Given the description of an element on the screen output the (x, y) to click on. 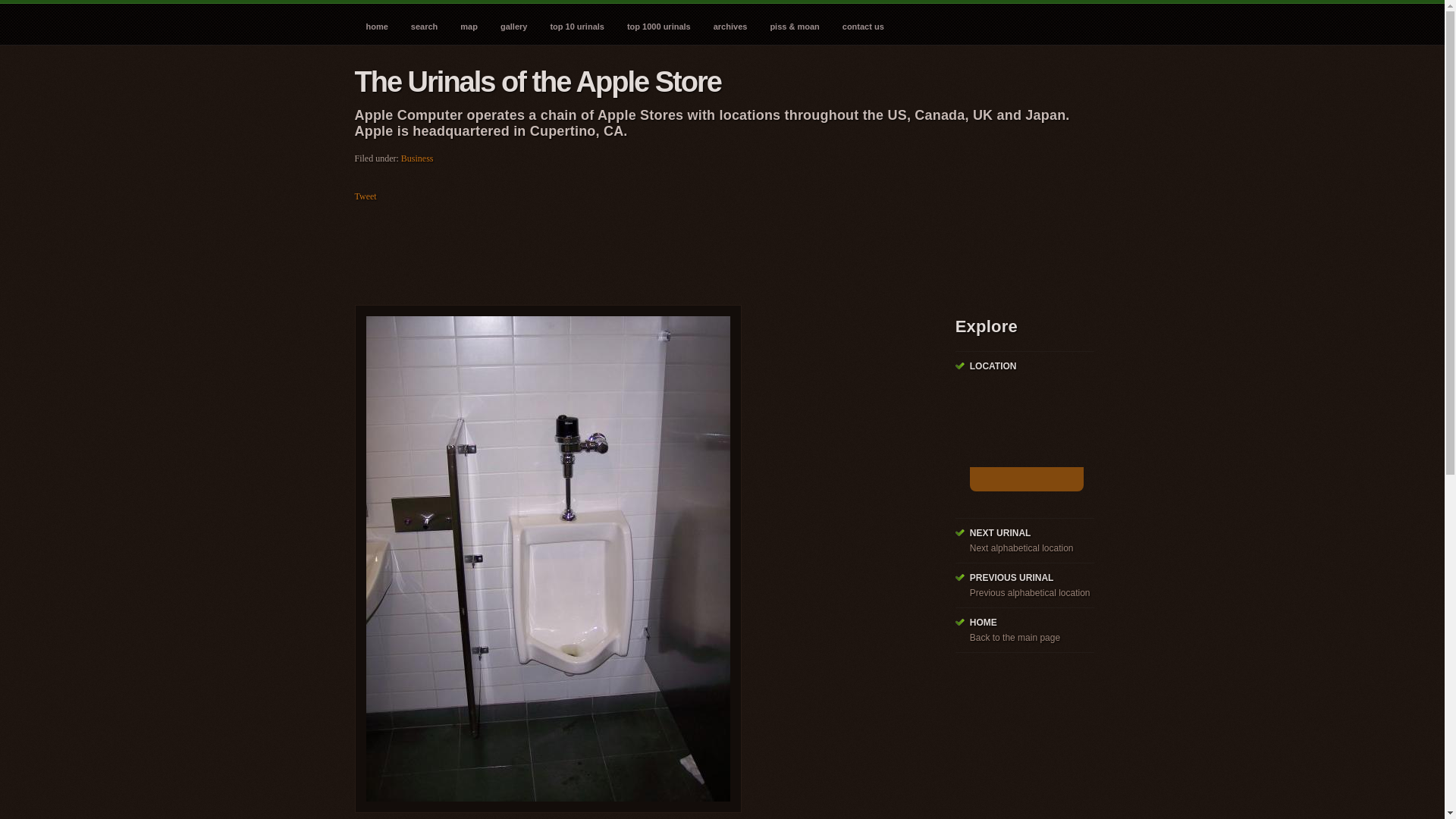
archives (729, 22)
LOCATION (992, 366)
Tweet (366, 195)
home (376, 22)
HOME (983, 622)
top 10 urinals (576, 22)
NEXT URINAL (999, 532)
top 1000 urinals (658, 22)
gallery (513, 22)
PREVIOUS URINAL (1011, 577)
contact us (863, 22)
map (468, 22)
search (423, 22)
Click for map (1026, 439)
Click for map (1026, 478)
